Given the description of an element on the screen output the (x, y) to click on. 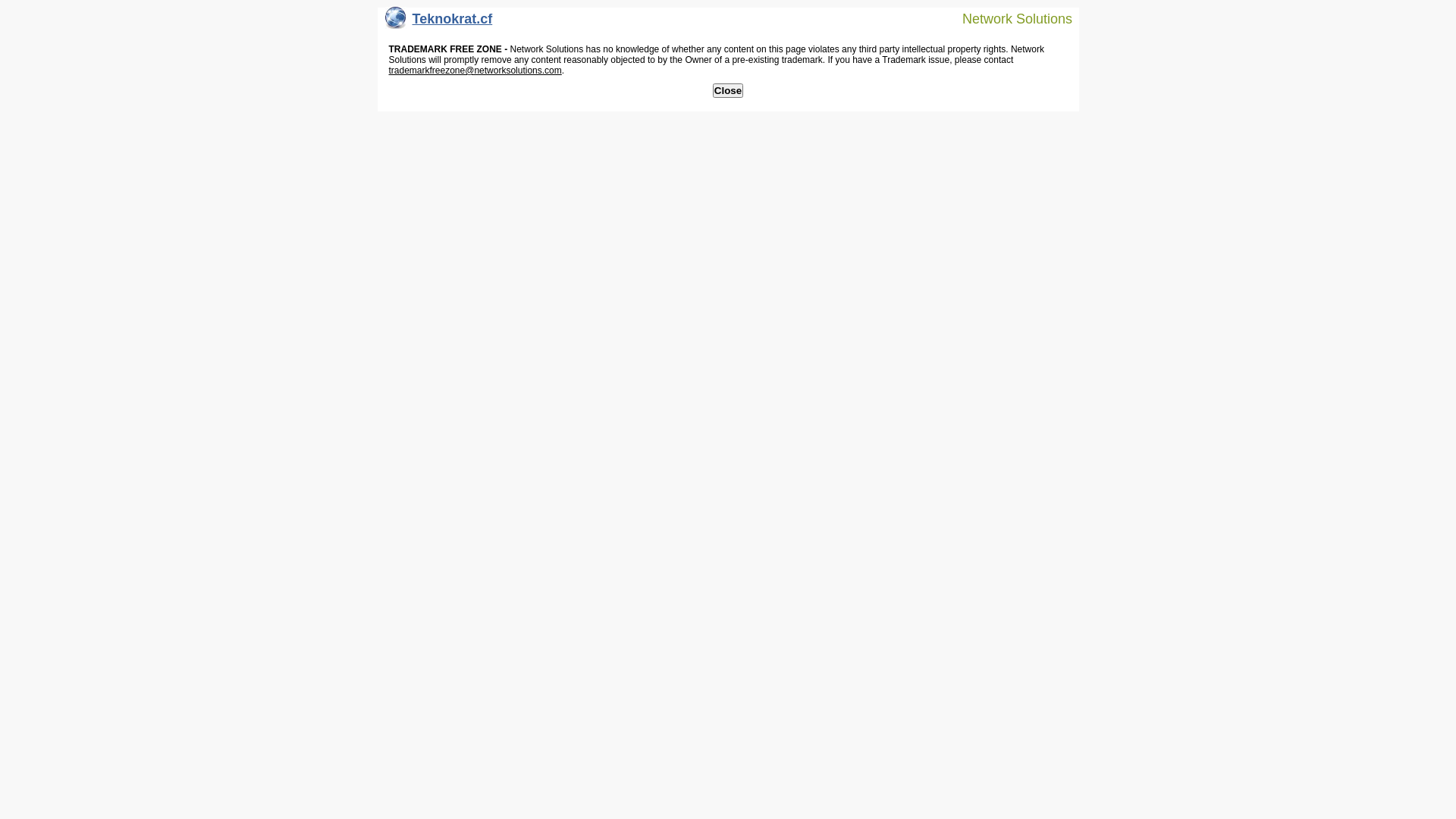
Network Solutions Element type: text (1007, 17)
trademarkfreezone@networksolutions.com Element type: text (474, 70)
Close Element type: text (727, 90)
Teknokrat.cf Element type: text (438, 21)
